Given the description of an element on the screen output the (x, y) to click on. 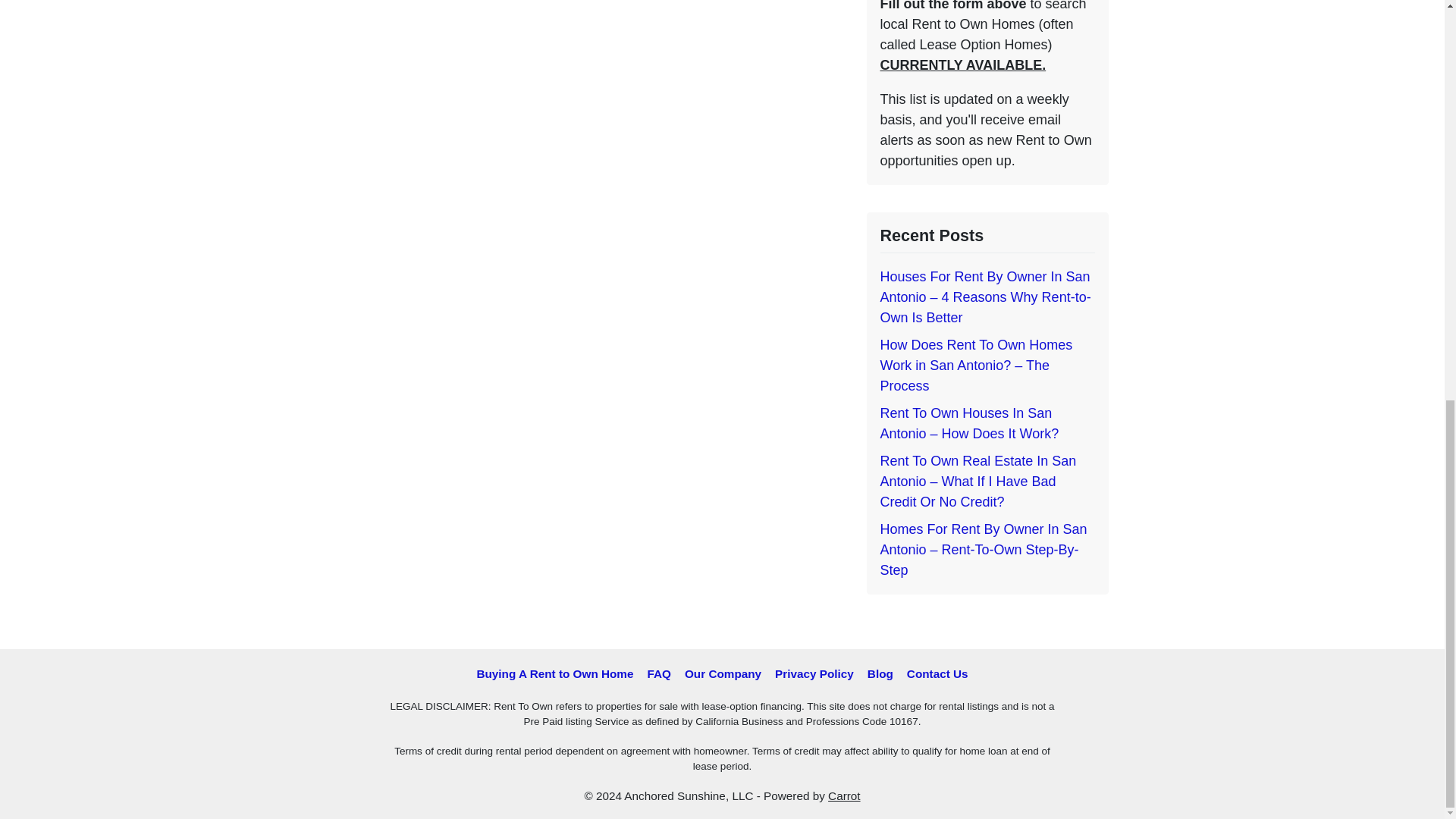
Contact Us (937, 673)
Buying A Rent to Own Home (554, 673)
Privacy Policy (814, 673)
Our Company (723, 673)
Carrot (844, 795)
Blog (879, 673)
FAQ (658, 673)
